Given the description of an element on the screen output the (x, y) to click on. 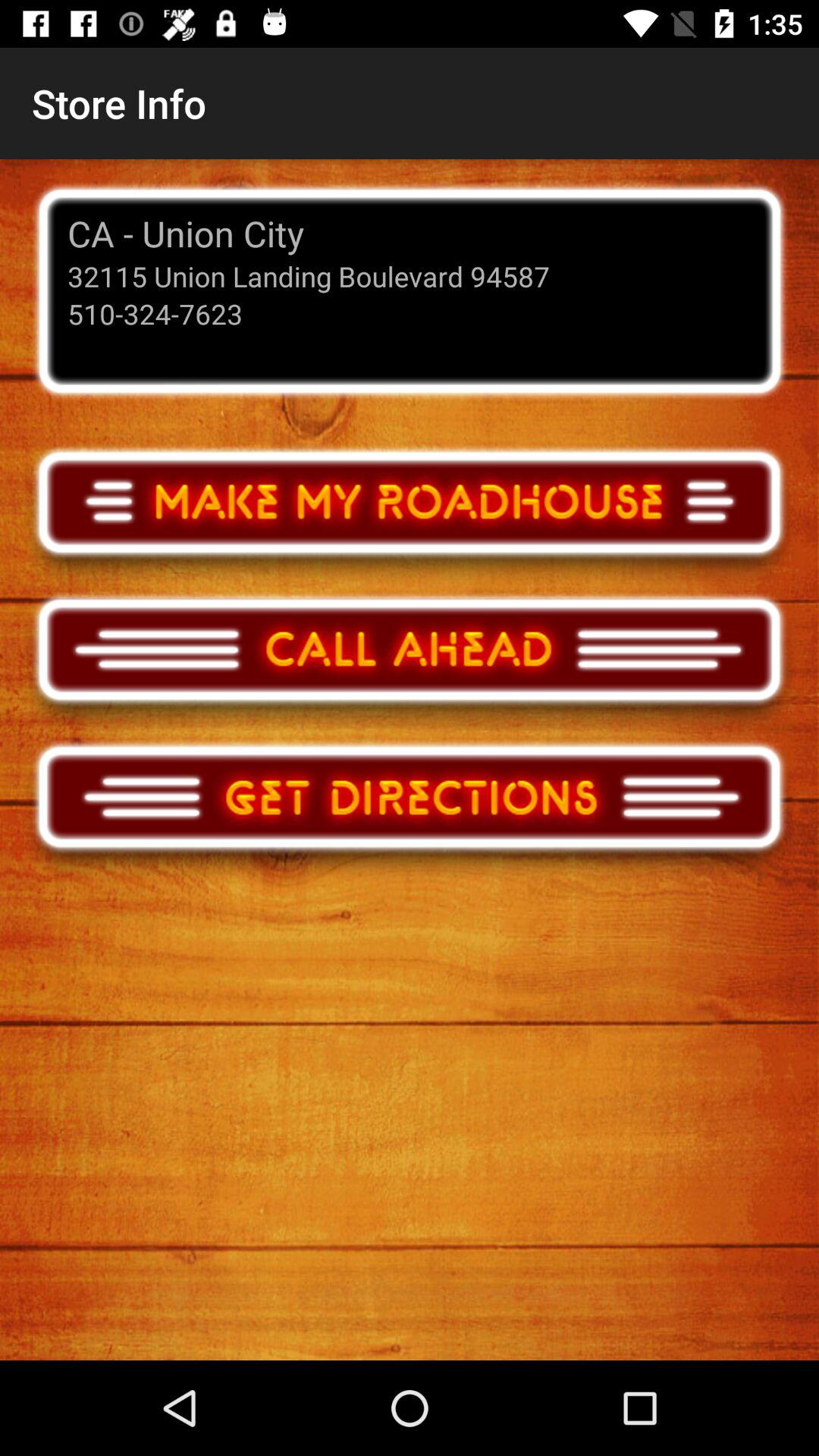
get store directions (409, 810)
